Given the description of an element on the screen output the (x, y) to click on. 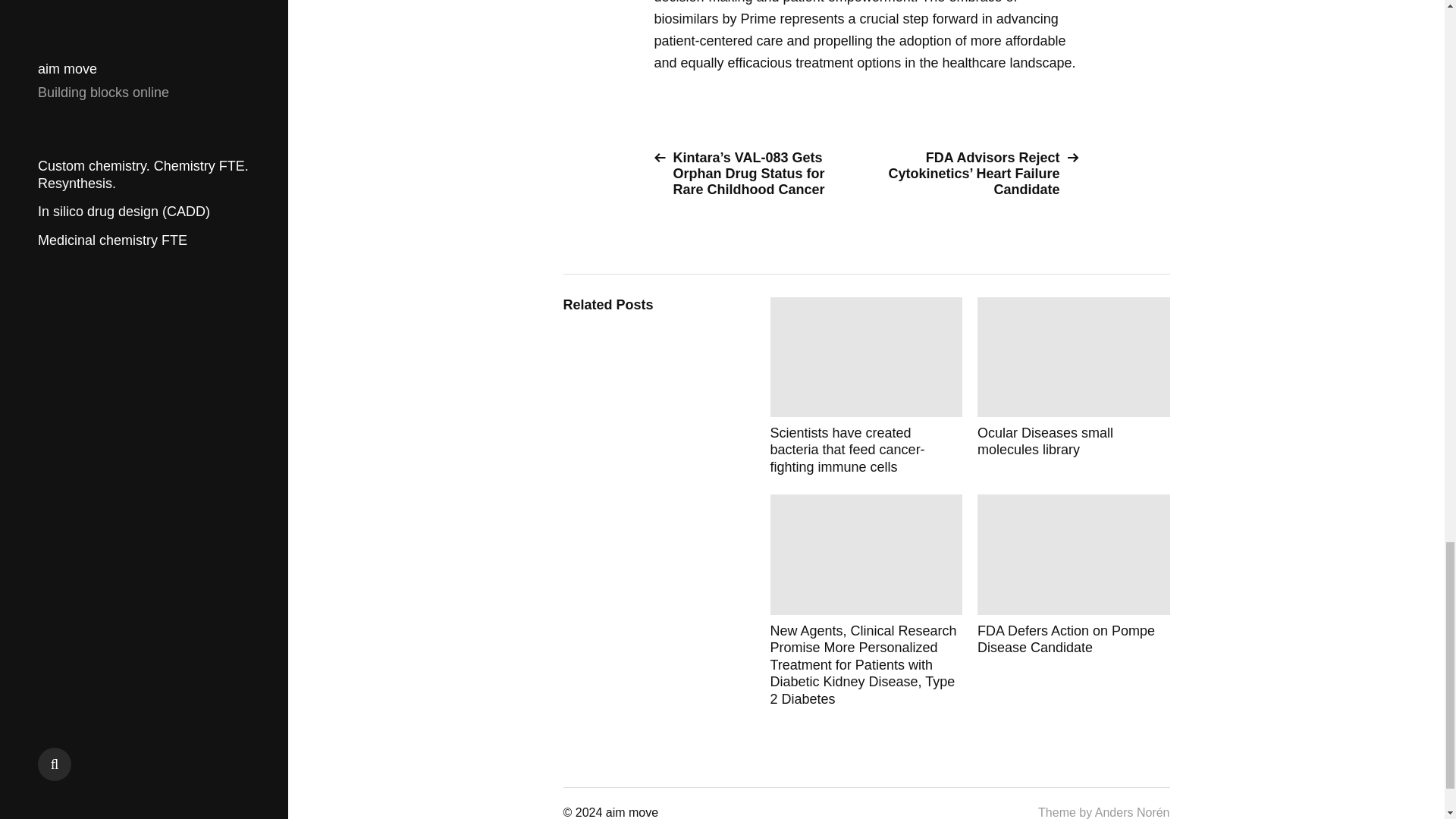
BRD4 Targeted Library (1073, 617)
Allosteric inhibitors (1073, 420)
